Given the description of an element on the screen output the (x, y) to click on. 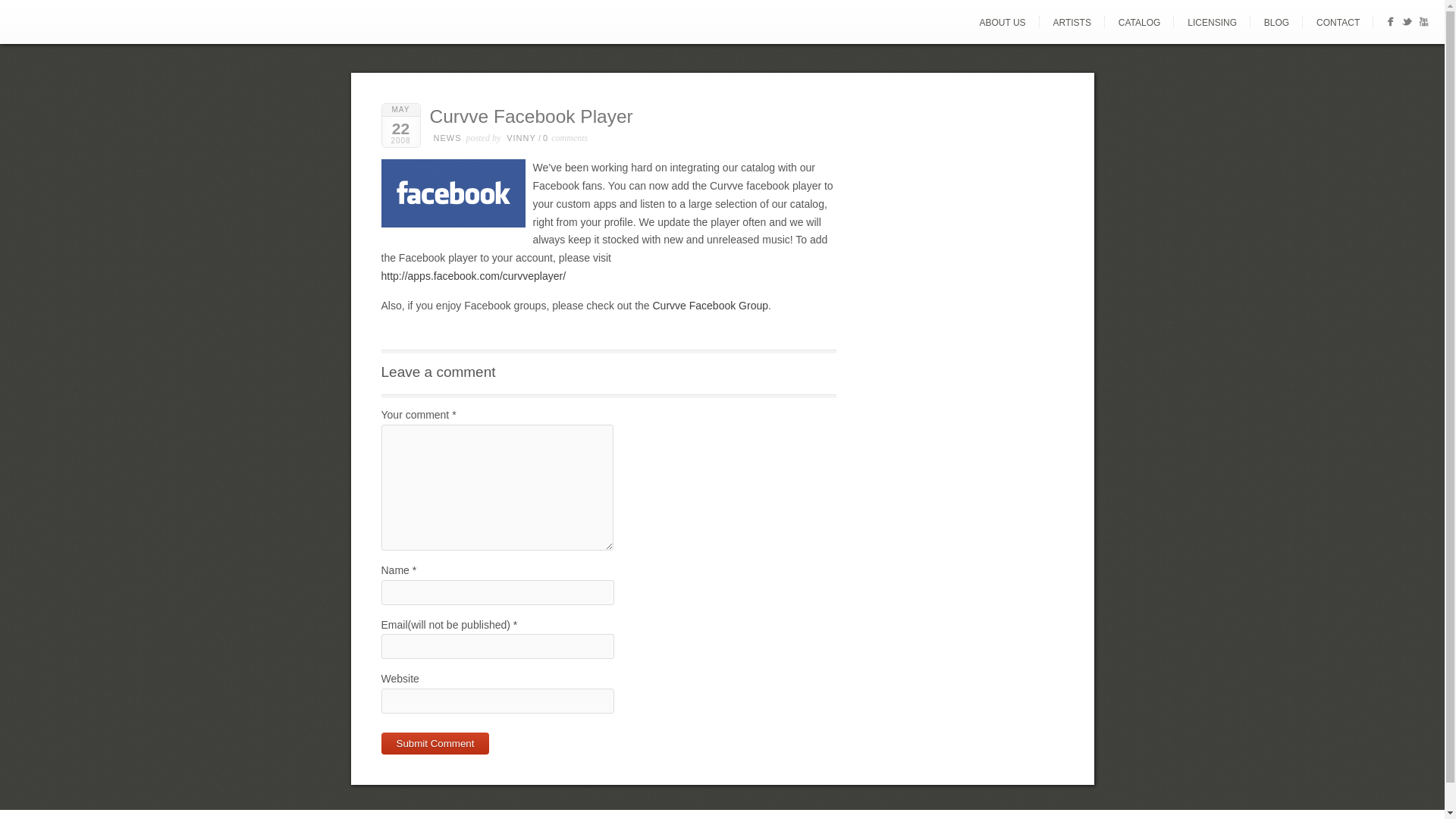
Curvve Facebook Group (710, 305)
VINNY (520, 137)
CATALOG (1140, 22)
NEWS (447, 137)
Submit Comment (434, 743)
Posts by vinny (520, 137)
ABOUT US (1001, 22)
LICENSING (1211, 22)
Submit Comment (434, 743)
Facebook Logo (456, 196)
0 (547, 137)
CONTACT (1338, 22)
ARTISTS (1071, 22)
BLOG (1276, 22)
